Given the description of an element on the screen output the (x, y) to click on. 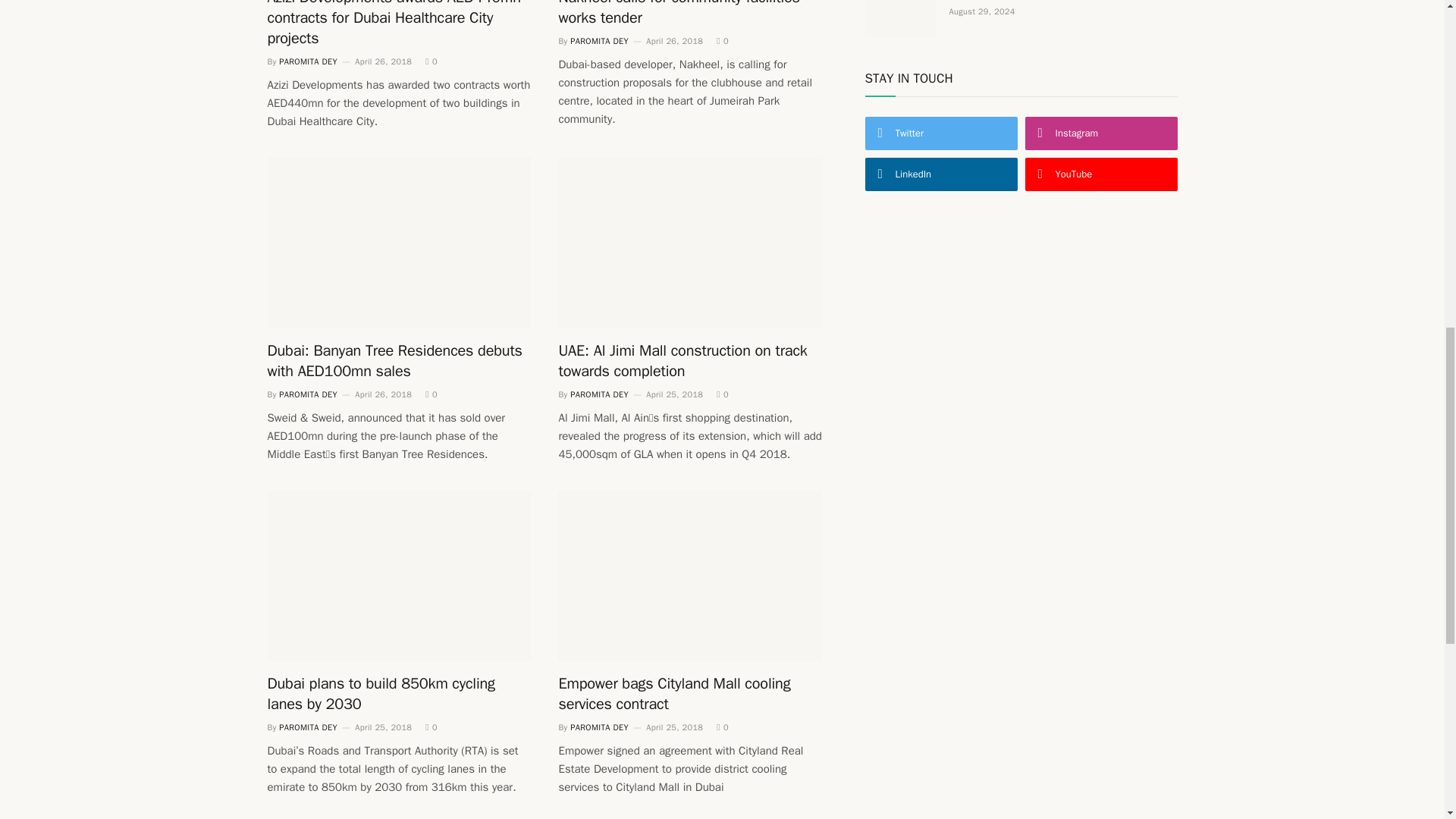
UAE: Al Jimi Mall construction on track towards completion (689, 243)
Posts by Paromita Dey (599, 40)
Posts by Paromita Dey (308, 394)
Dubai: Banyan Tree Residences debuts with AED100mn sales (398, 243)
Posts by Paromita Dey (308, 61)
